Given the description of an element on the screen output the (x, y) to click on. 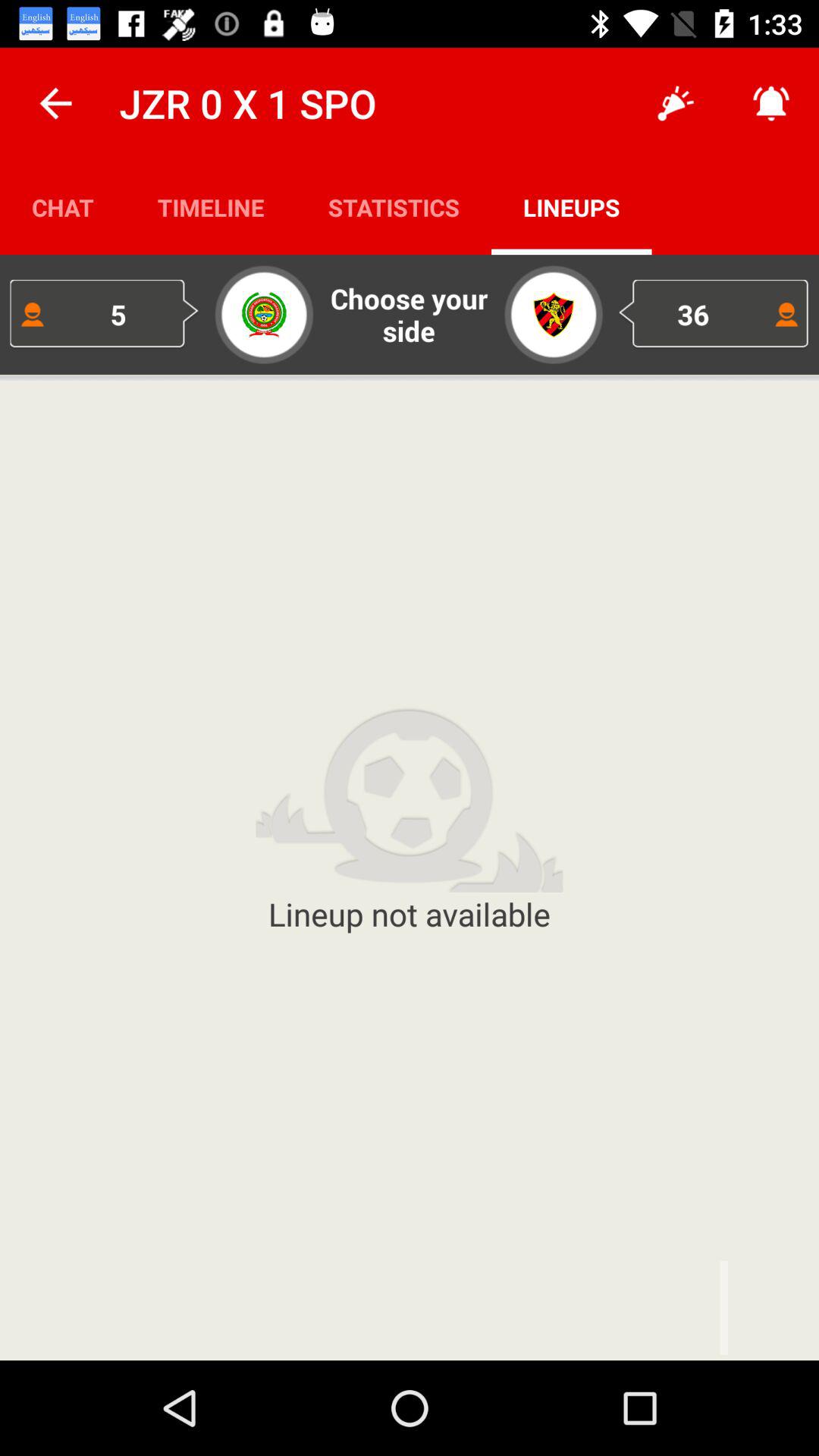
turn off app next to statistics item (210, 206)
